Given the description of an element on the screen output the (x, y) to click on. 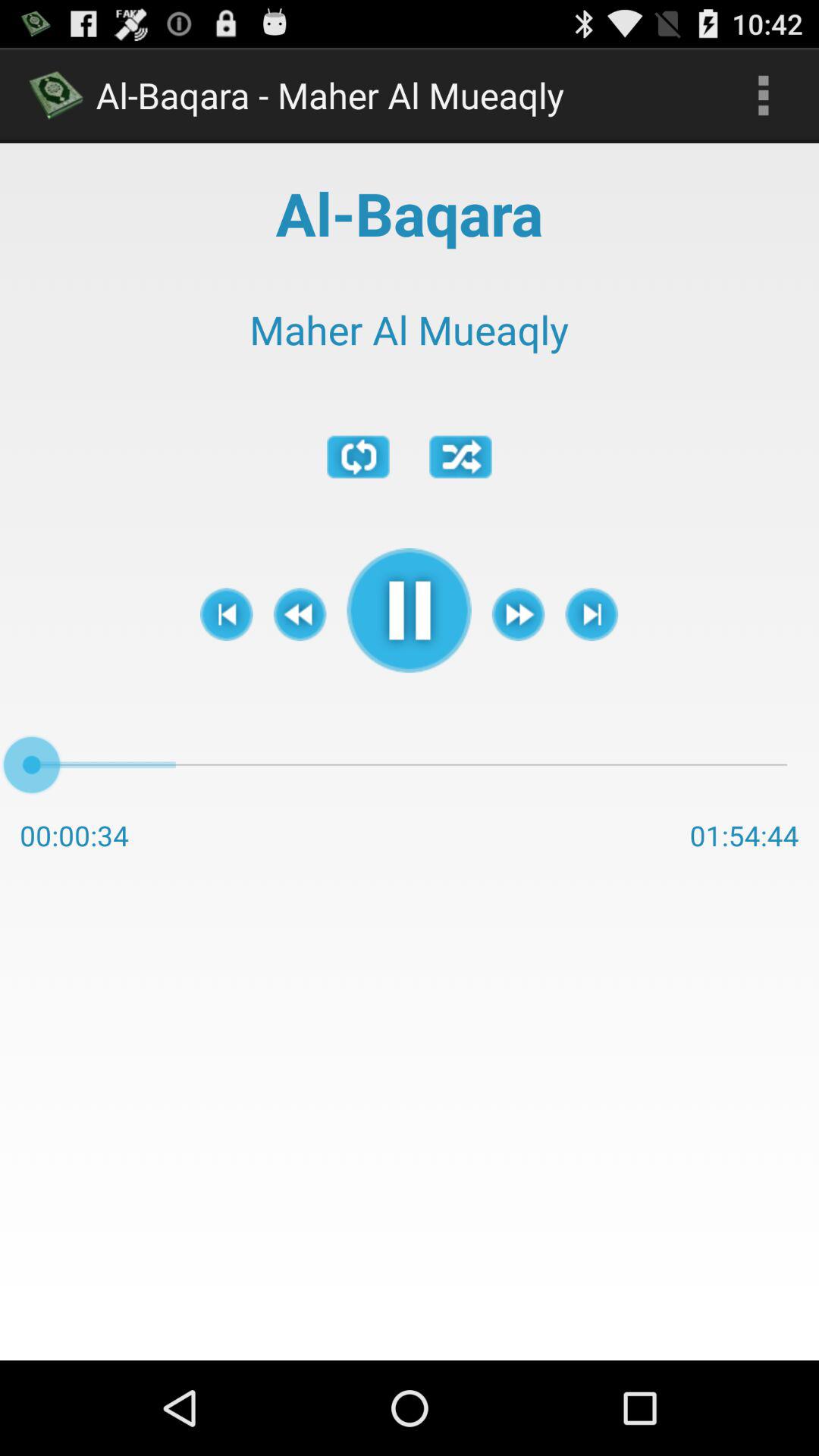
launch icon at the top right corner (763, 95)
